Given the description of an element on the screen output the (x, y) to click on. 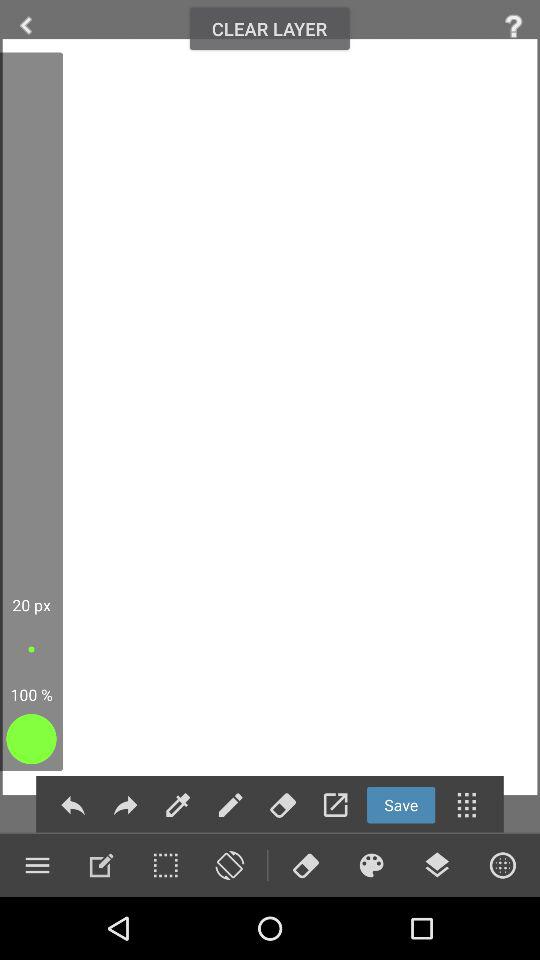
eraser (305, 865)
